Given the description of an element on the screen output the (x, y) to click on. 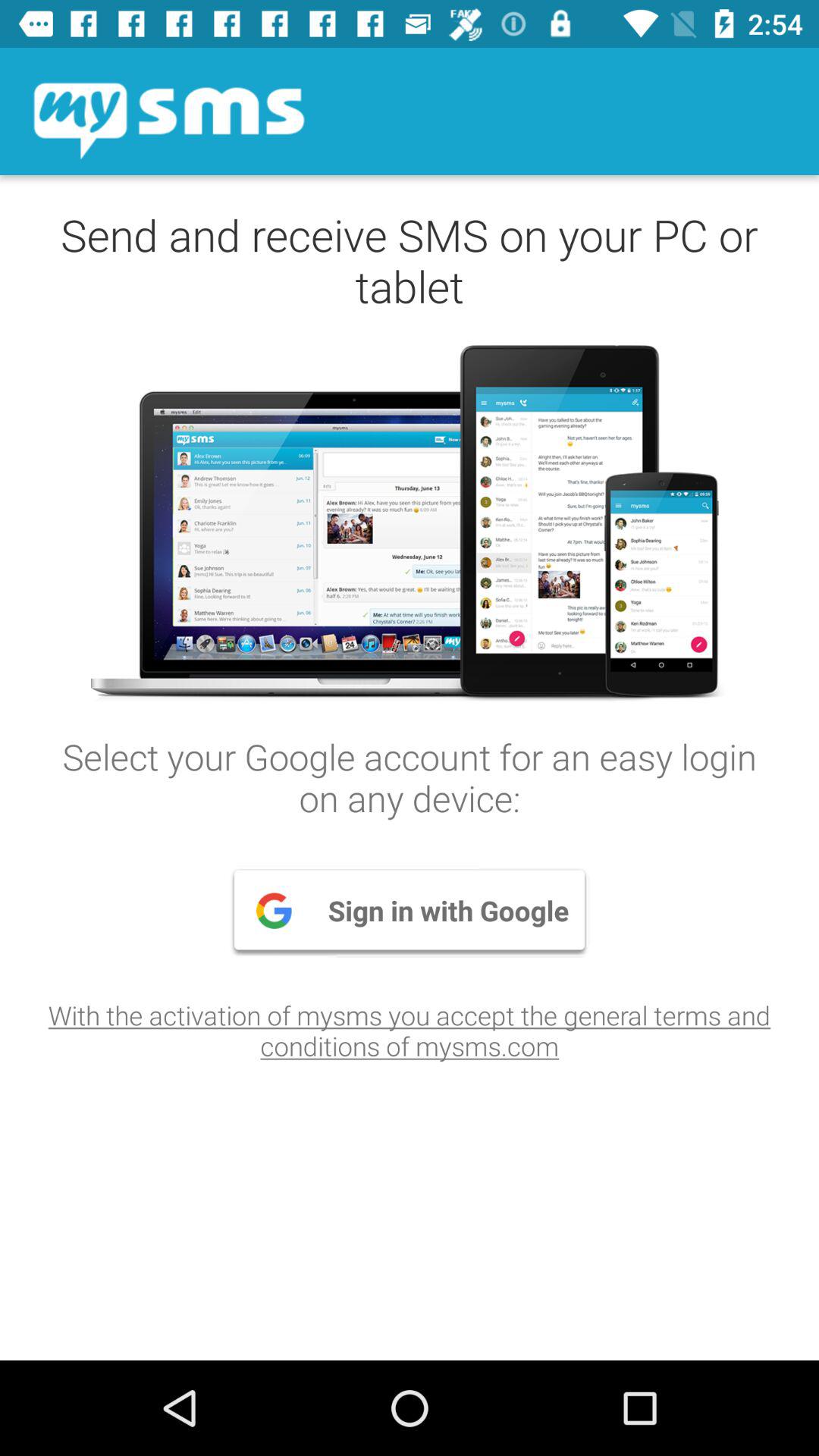
select the item above with the activation item (409, 909)
